Given the description of an element on the screen output the (x, y) to click on. 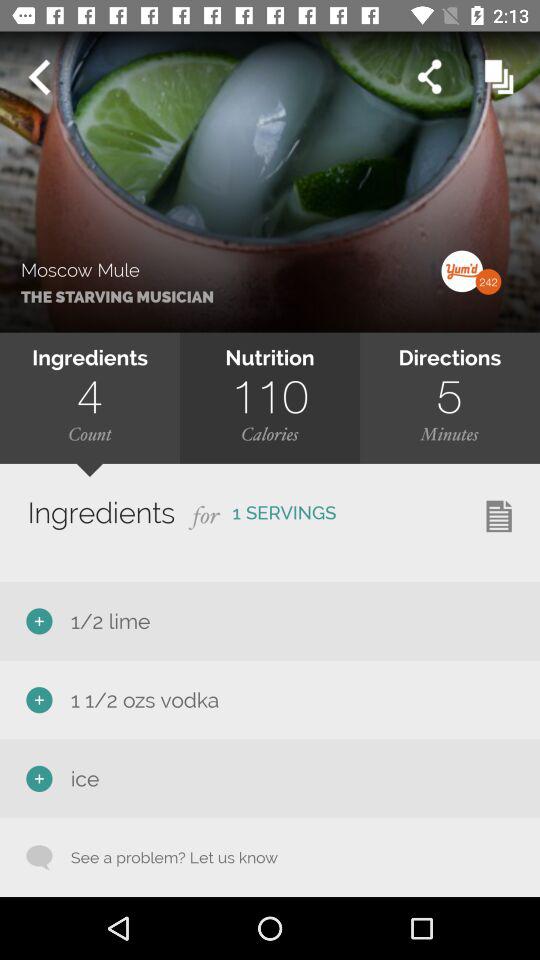
launch item to the left of the see a problem (39, 857)
